Given the description of an element on the screen output the (x, y) to click on. 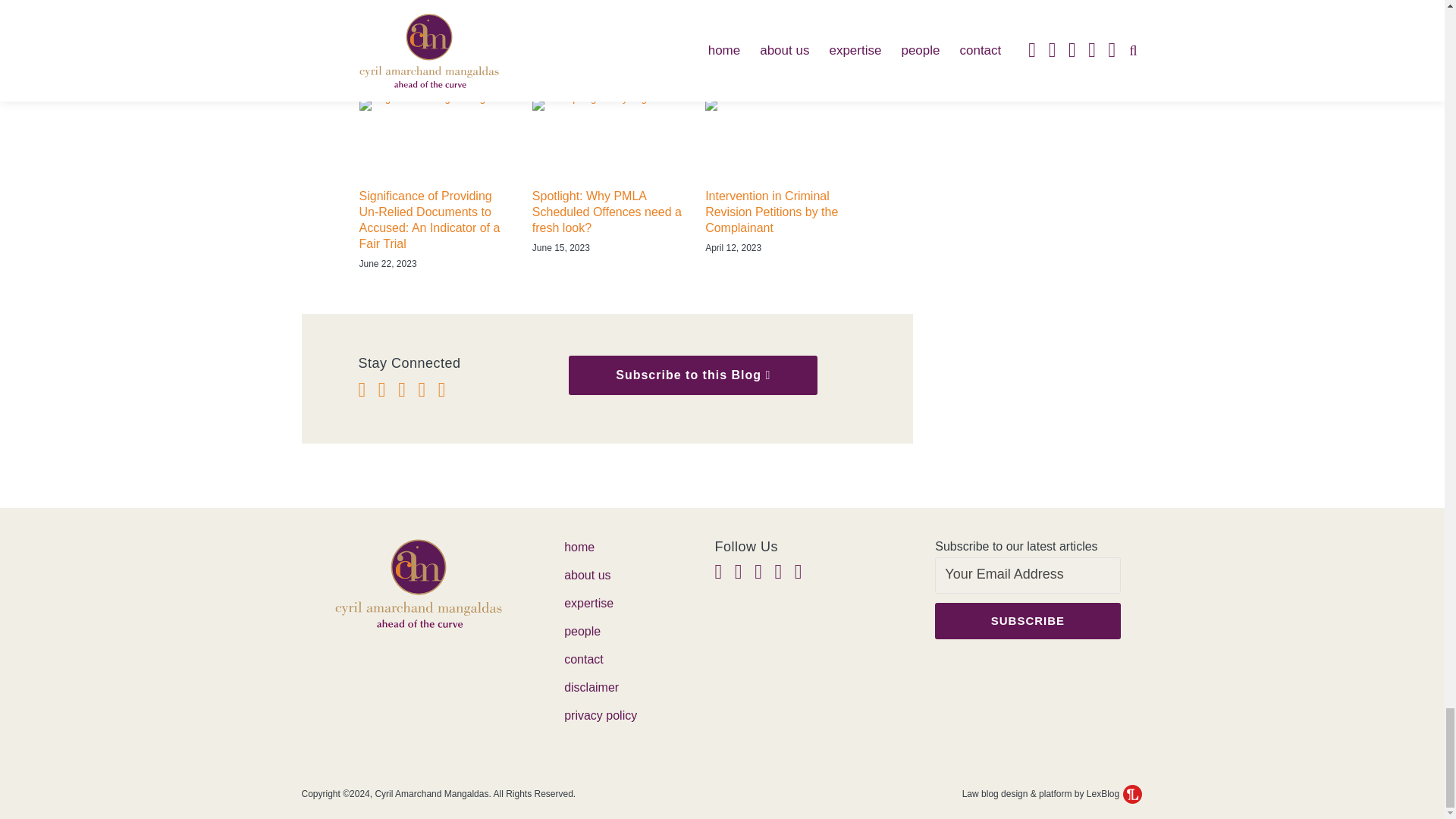
LexBlog Logo (1131, 793)
Subscribe (1026, 620)
